Given the description of an element on the screen output the (x, y) to click on. 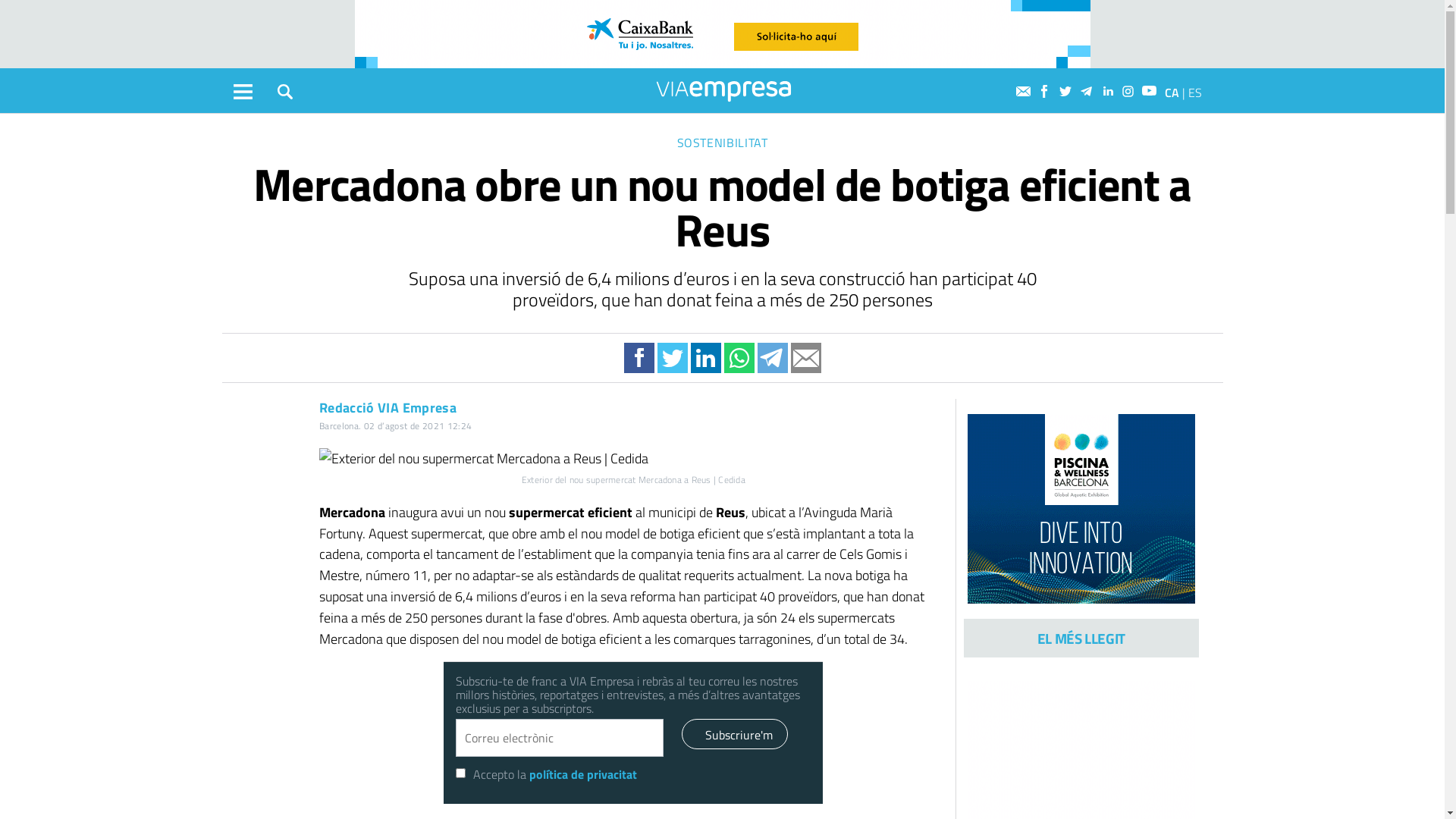
Comparteix a telegram Element type: hover (771, 357)
Comparteix via correu electronic Element type: hover (805, 357)
LinkedIn Element type: hover (1109, 91)
Exterior del nou supermercat Mercadona a Reus | Cedida Element type: hover (633, 458)
Comparteix a Twitter Element type: hover (671, 357)
Subscriu-te Element type: hover (1025, 91)
ES Element type: text (1194, 92)
Comparteix a Facebook Element type: hover (638, 357)
Subscriure'm Element type: text (734, 733)
Facebook Element type: hover (1046, 91)
CA Element type: text (1171, 92)
Telegram Element type: hover (1088, 91)
Instagram Element type: hover (1129, 91)
Twitter Element type: hover (1067, 91)
3rd party ad content Element type: hover (1081, 508)
3rd party ad content Element type: hover (722, 34)
YouTube Element type: hover (1151, 91)
Comparteix a Linkedin Element type: hover (705, 357)
Comparteix a Whatsapp Element type: hover (738, 357)
